Given the description of an element on the screen output the (x, y) to click on. 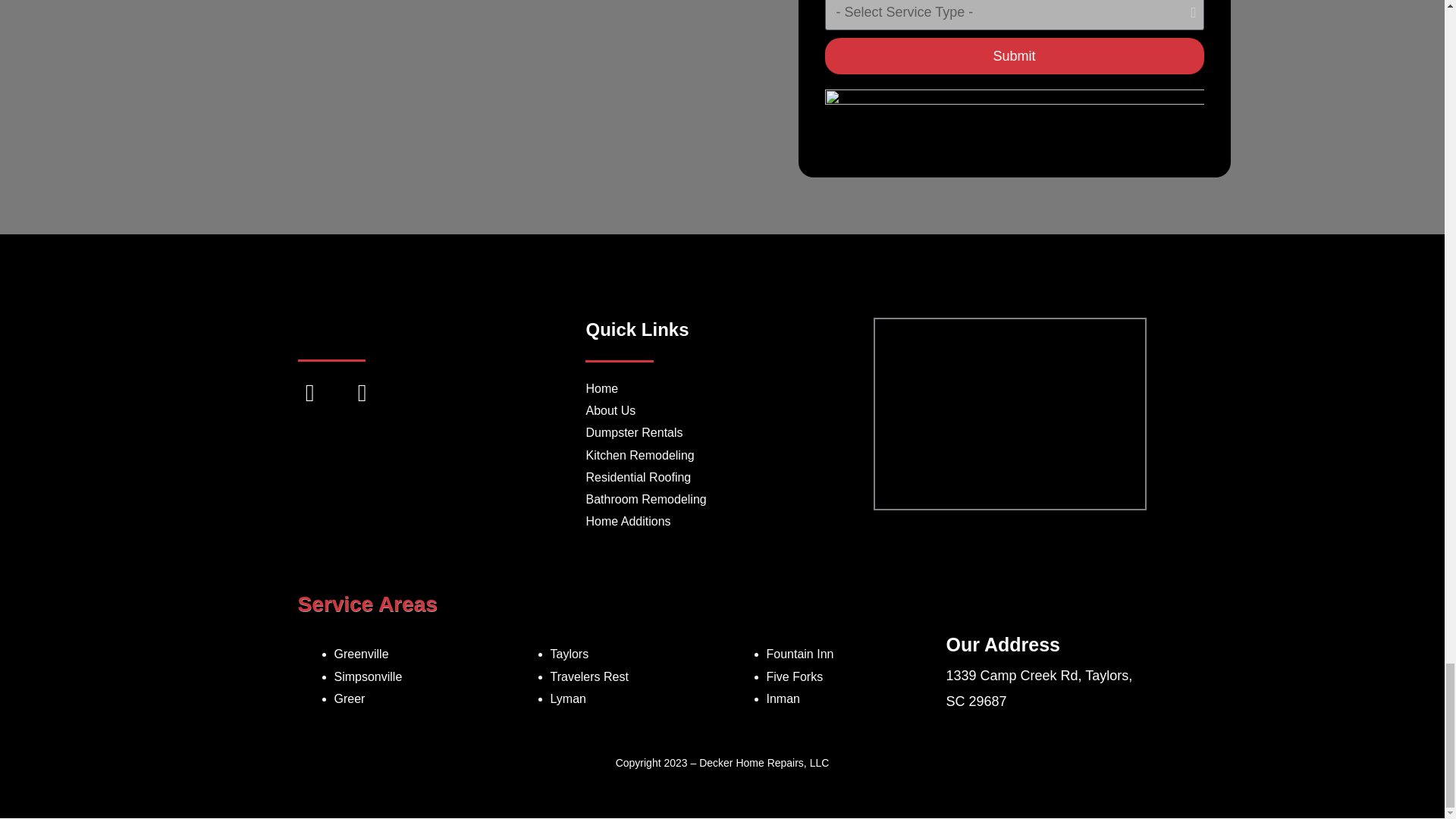
1339 Camp Creek Rd, Taylors, SC 29687 (1009, 413)
